Given the description of an element on the screen output the (x, y) to click on. 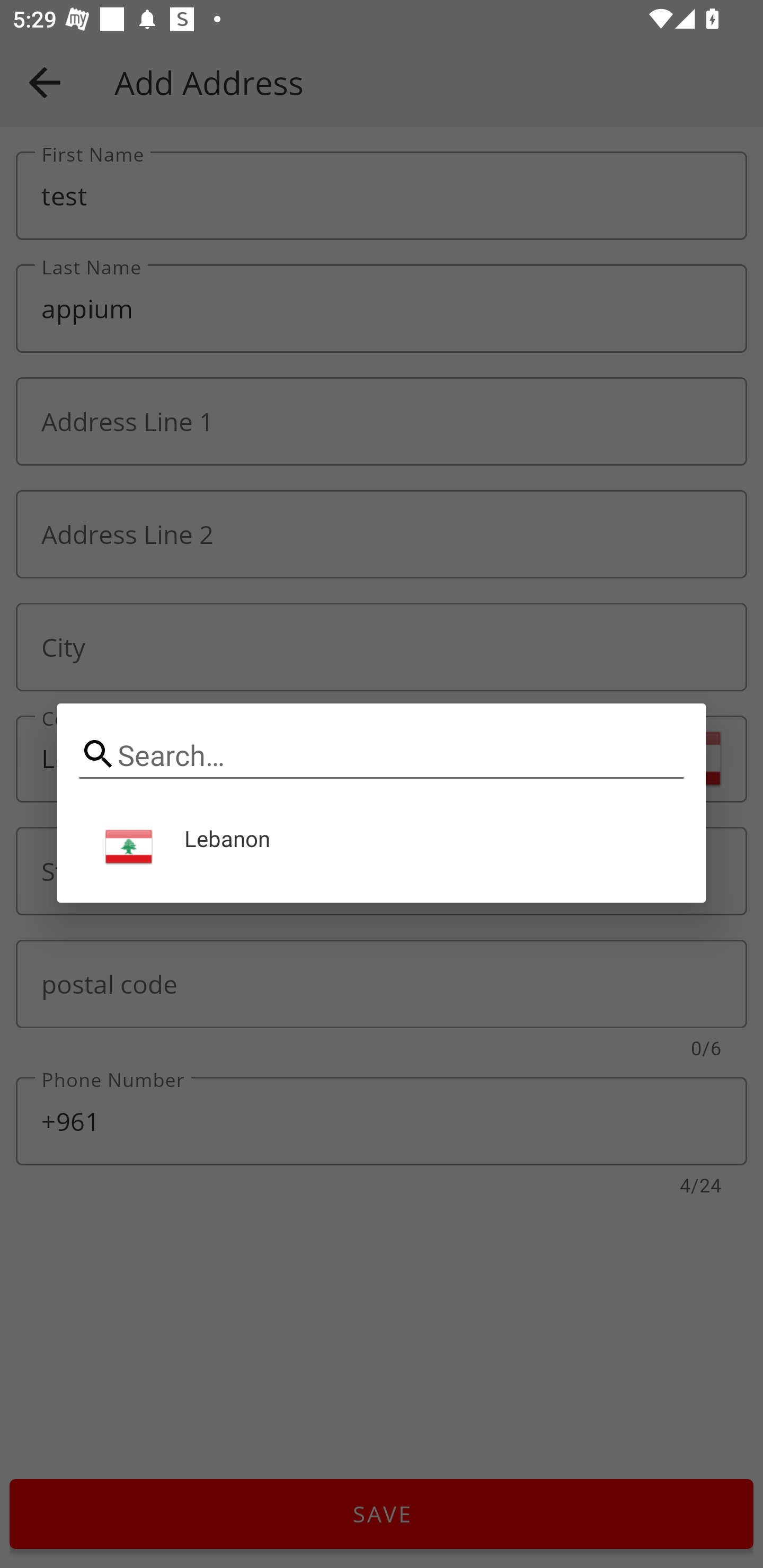
Search… (381, 755)
Lebanon (381, 847)
